Given the description of an element on the screen output the (x, y) to click on. 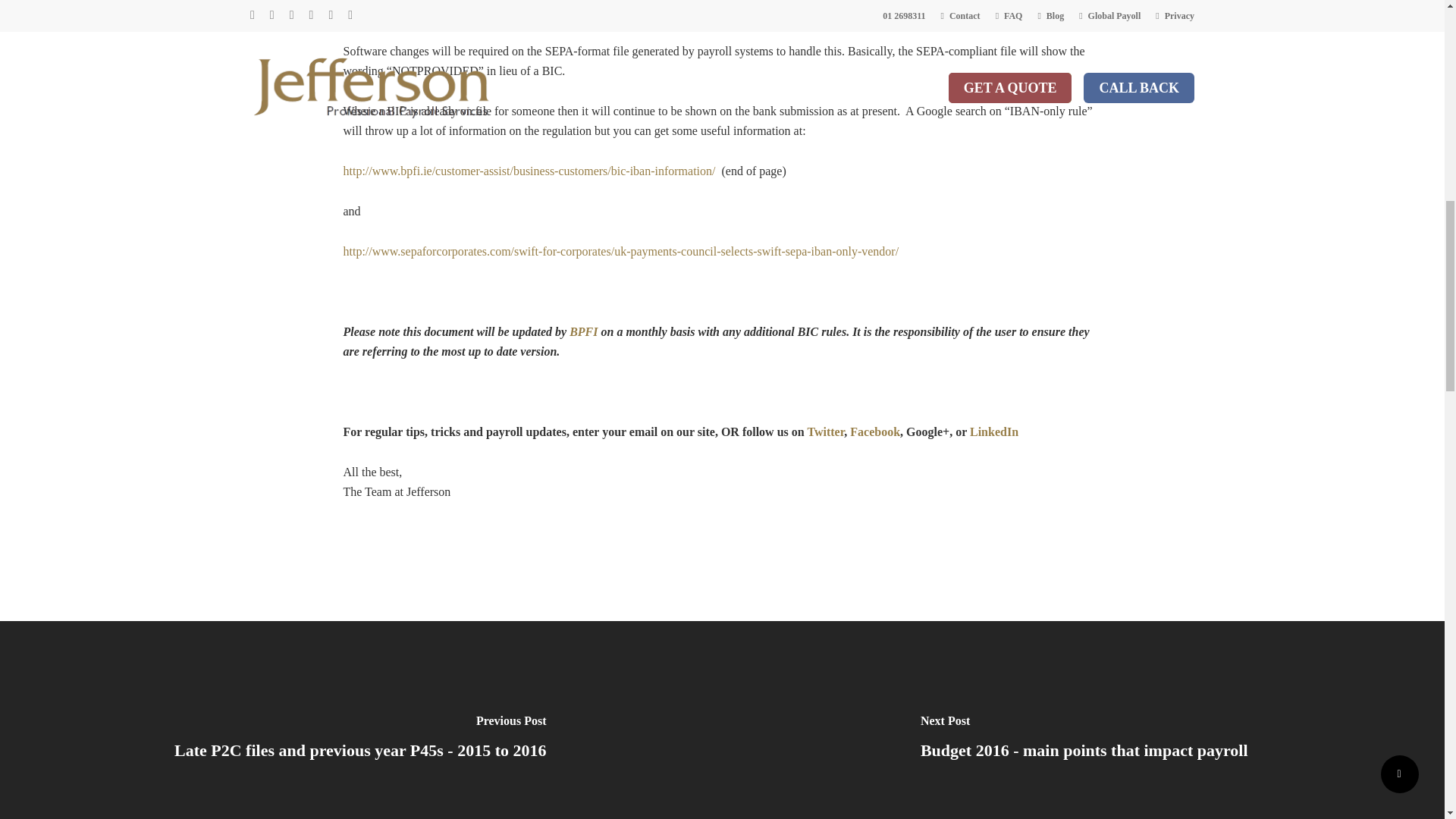
BPFI (582, 331)
Twitter (825, 431)
Facebook (874, 431)
